Given the description of an element on the screen output the (x, y) to click on. 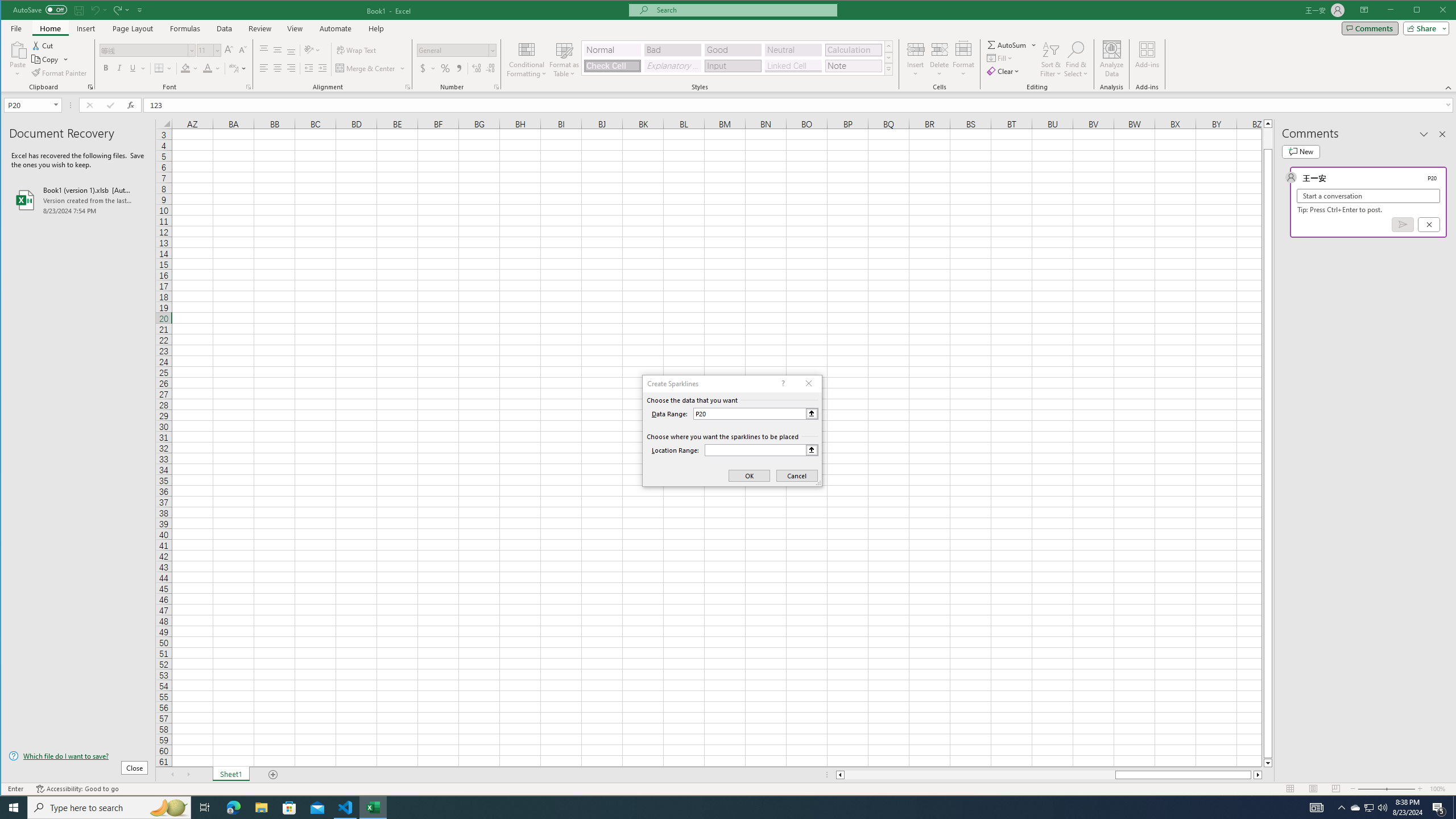
Italic (119, 68)
Format (963, 59)
Calculation (853, 49)
Font (143, 50)
Cancel (1428, 224)
Underline (137, 68)
Neutral (793, 49)
Font (147, 49)
Fill Color RGB(255, 255, 0) (185, 68)
